Given the description of an element on the screen output the (x, y) to click on. 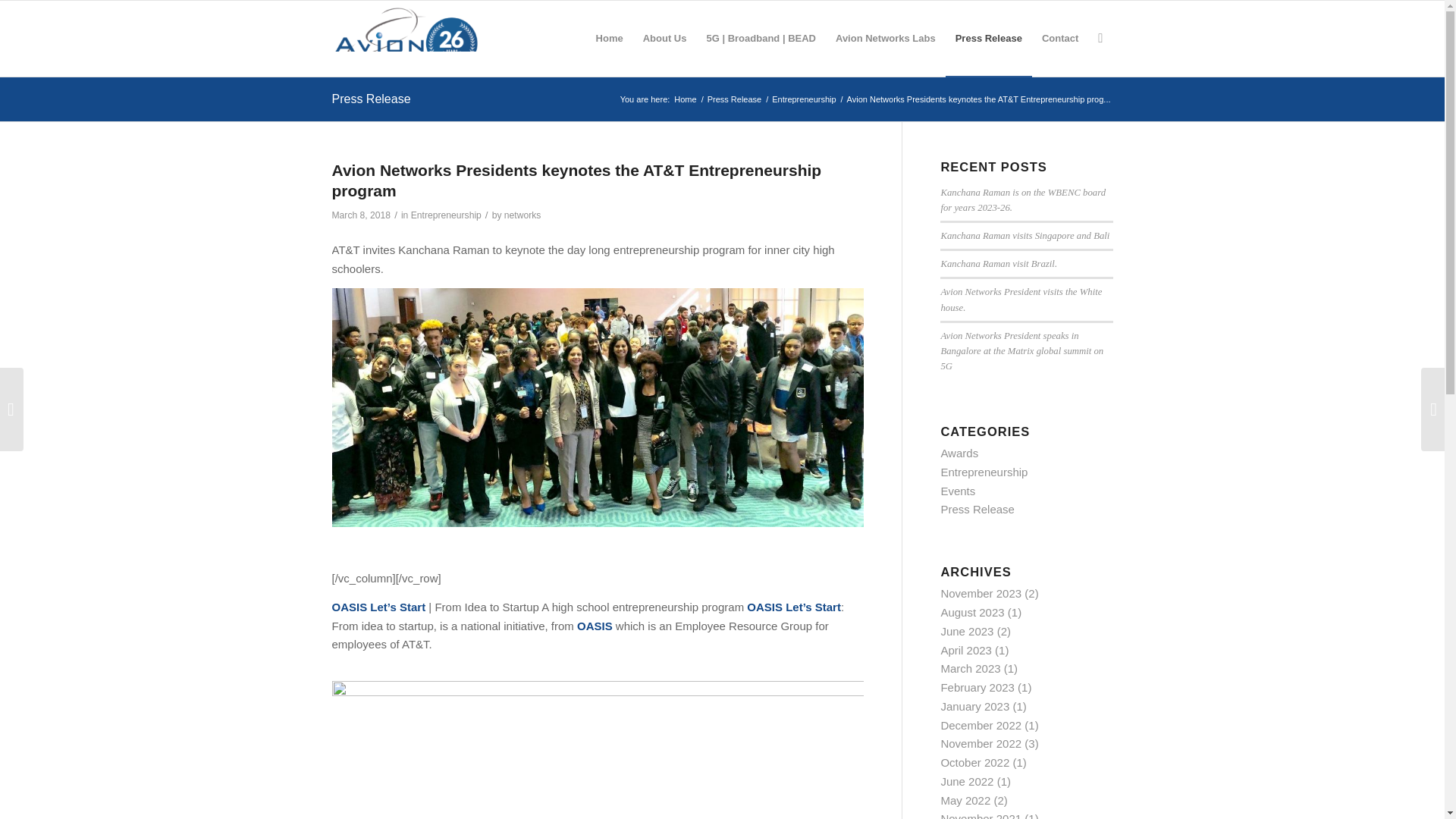
Home (684, 99)
Press Release (988, 38)
networks (522, 214)
Posts by networks (522, 214)
Entrepreneurship (804, 99)
Entrepreneurship (445, 214)
Permanent Link: Press Release (370, 98)
Press Release (734, 99)
Avion Networks Labs (884, 38)
Kanchana Raman is on the WBENC board for years 2023-26. (1022, 199)
